Given the description of an element on the screen output the (x, y) to click on. 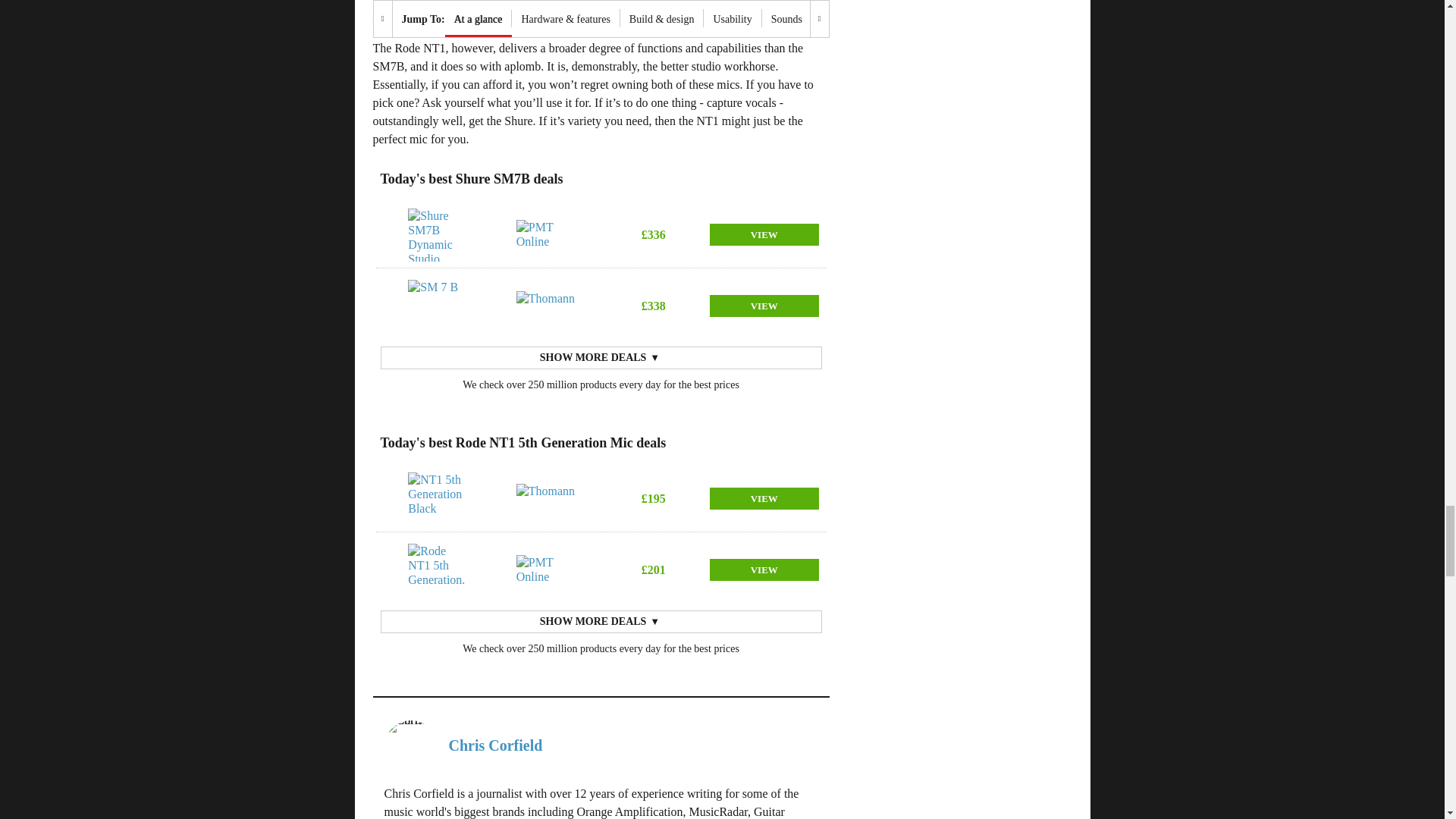
NT1 5th Generation Black (437, 498)
PMT Online (546, 570)
PMT Online (546, 235)
Thomann (546, 499)
Rode NT1 5th Generation... (437, 570)
Shure SM7B Dynamic Studio... (437, 234)
Thomann (546, 306)
SM 7 B (437, 306)
